Given the description of an element on the screen output the (x, y) to click on. 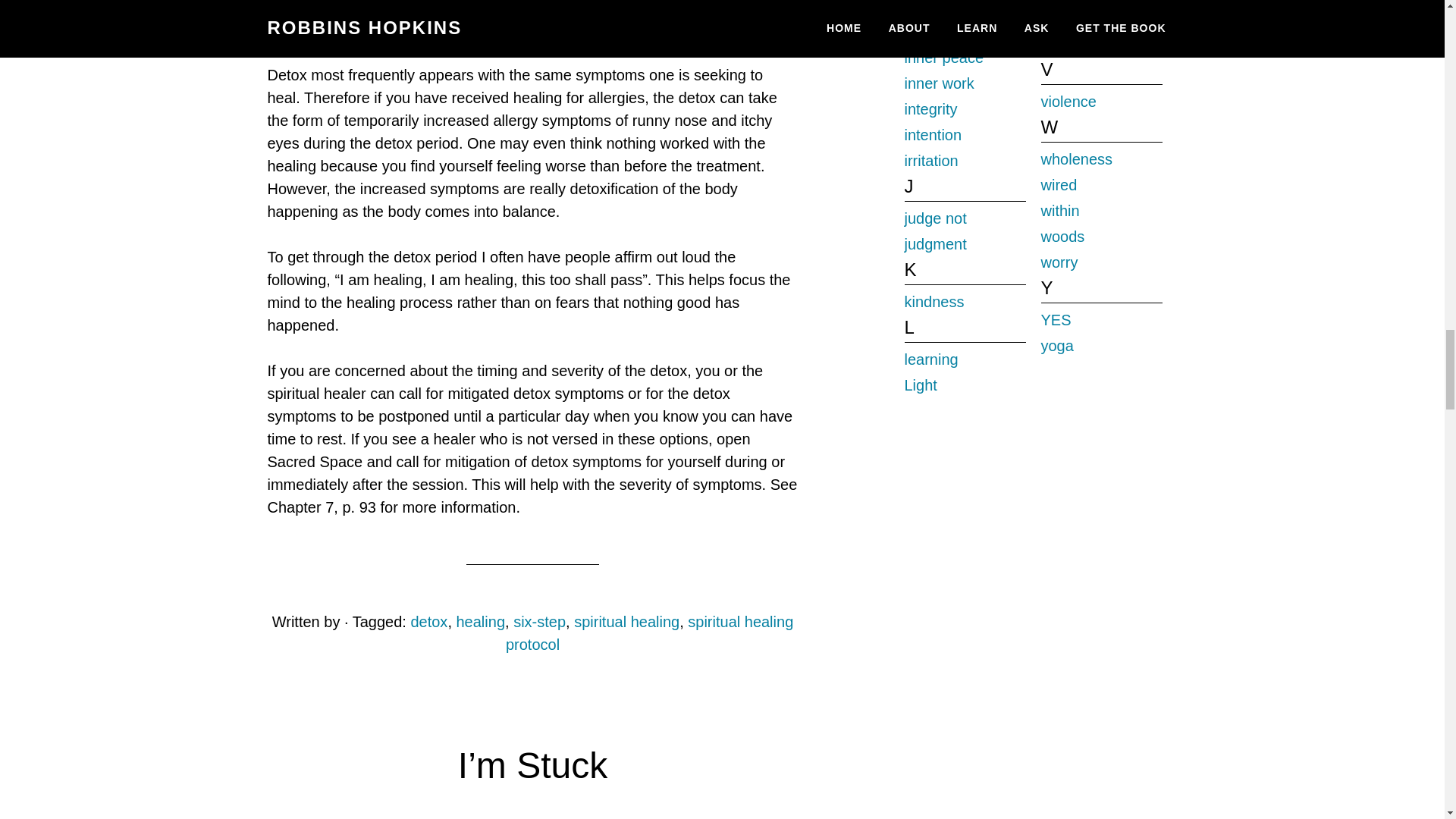
healing (481, 621)
detox (428, 621)
